Given the description of an element on the screen output the (x, y) to click on. 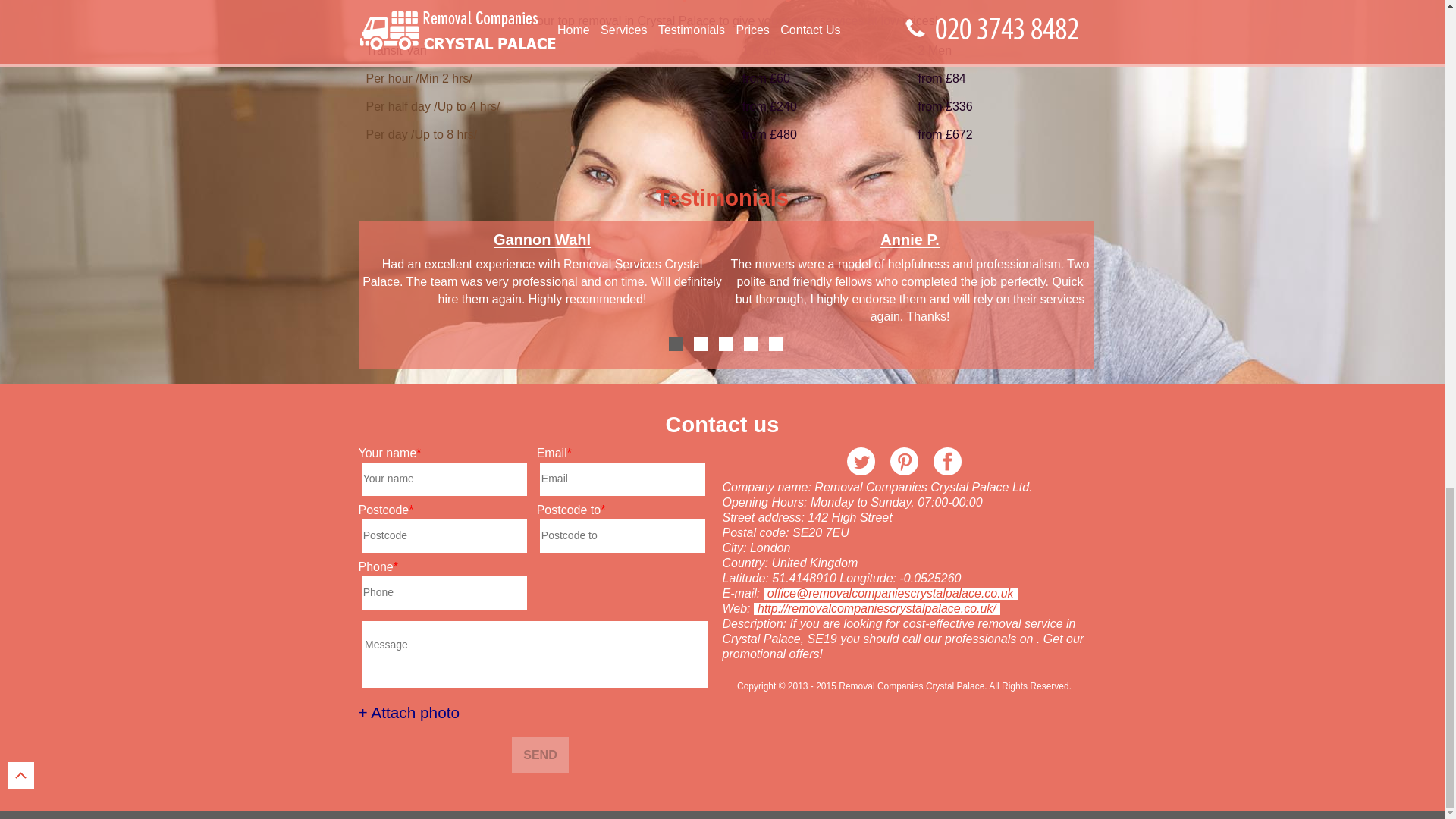
SEND (539, 755)
Send E-mail (889, 593)
